Given the description of an element on the screen output the (x, y) to click on. 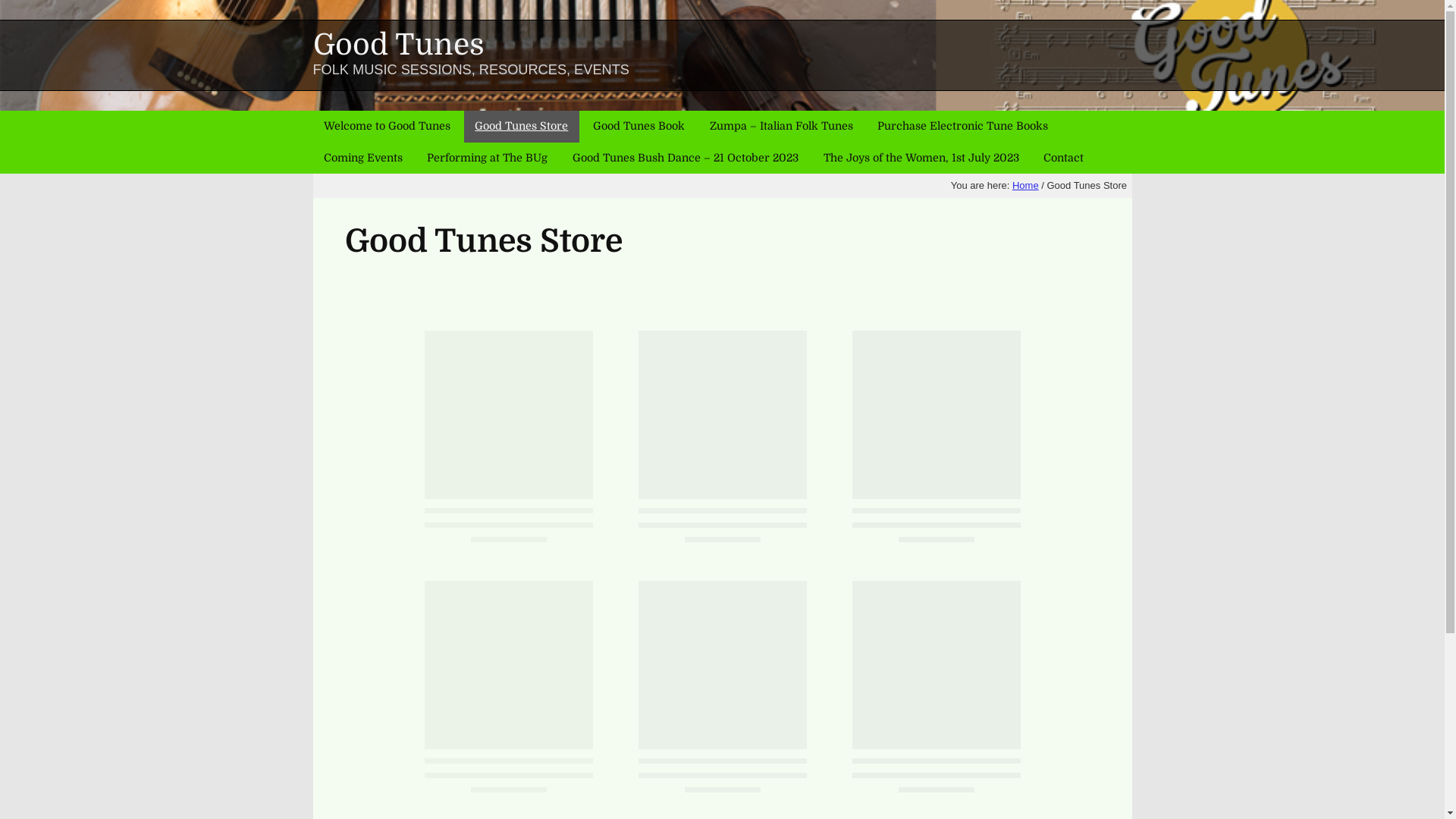
Contact Element type: text (1063, 157)
The Joys of the Women, 1st July 2023 Element type: text (920, 157)
Good Tunes Store Element type: text (521, 125)
Welcome to Good Tunes Element type: text (386, 125)
Home Element type: text (1025, 185)
Purchase Electronic Tune Books Element type: text (962, 125)
Good Tunes Book Element type: text (639, 125)
Good Tunes Element type: text (397, 44)
Coming Events Element type: text (362, 157)
Performing at The BUg Element type: text (487, 157)
